Given the description of an element on the screen output the (x, y) to click on. 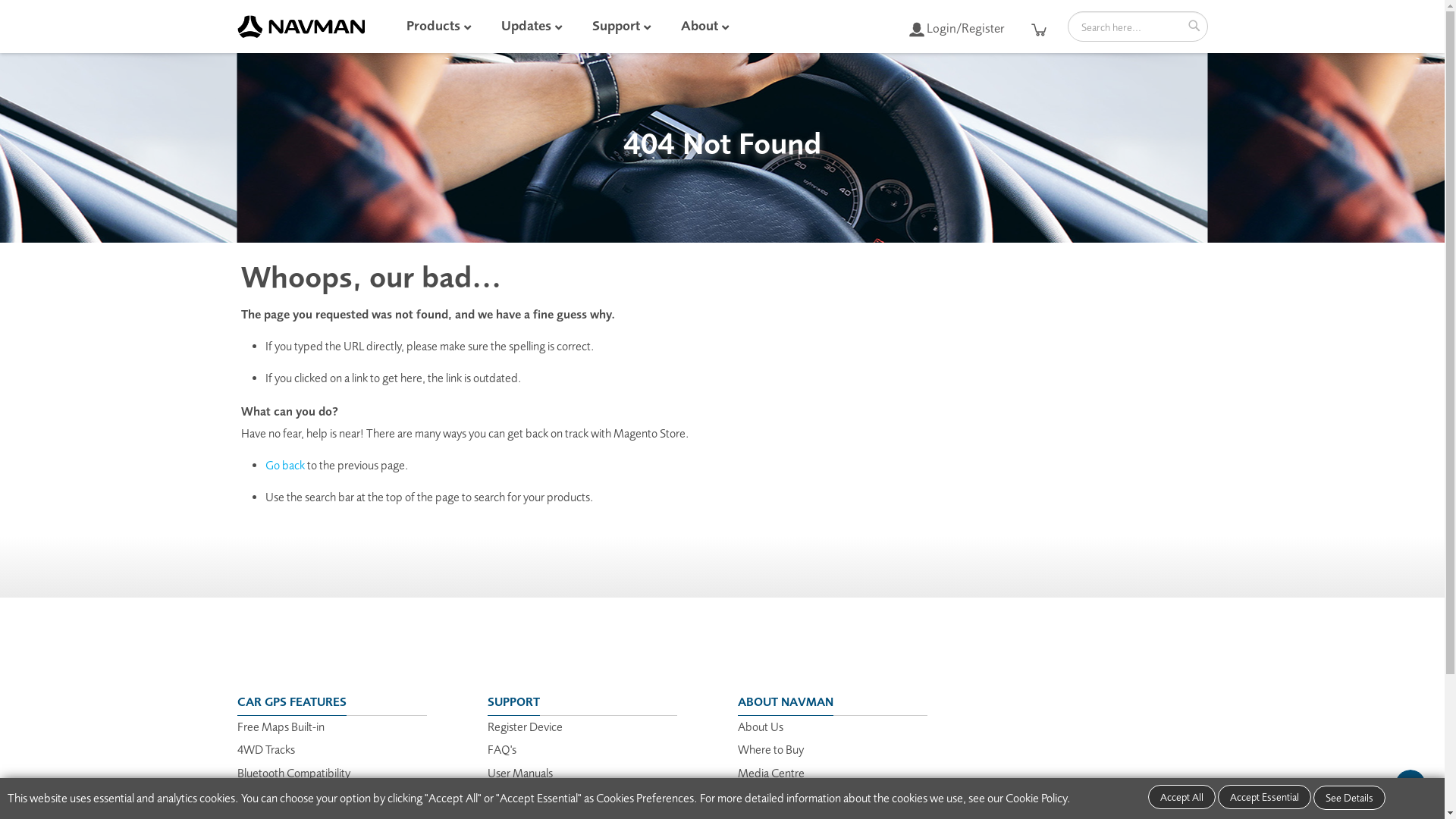
Bluetooth Compatibility Element type: text (292, 772)
Free Maps Built-in Element type: text (279, 726)
Map Reporter Element type: text (270, 795)
Search Element type: text (1193, 25)
About Us Element type: text (759, 726)
User Manuals Element type: text (519, 772)
4WD Tracks Element type: text (265, 749)
Where to Buy Element type: text (770, 749)
Register Device Element type: text (523, 726)
Navman Element type: hover (303, 26)
Contact Us Element type: text (763, 795)
Navman Element type: hover (300, 26)
Warranty Element type: text (508, 795)
See Details Element type: text (1349, 797)
Go back Element type: text (284, 465)
Login/Register Element type: text (955, 28)
Updates Element type: text (545, 26)
Support Element type: text (635, 26)
About Element type: text (719, 26)
FAQ's Element type: text (500, 749)
Accept All Element type: text (1181, 796)
Accept Essential Element type: text (1264, 796)
Media Centre Element type: text (770, 772)
Products Element type: text (453, 26)
